Given the description of an element on the screen output the (x, y) to click on. 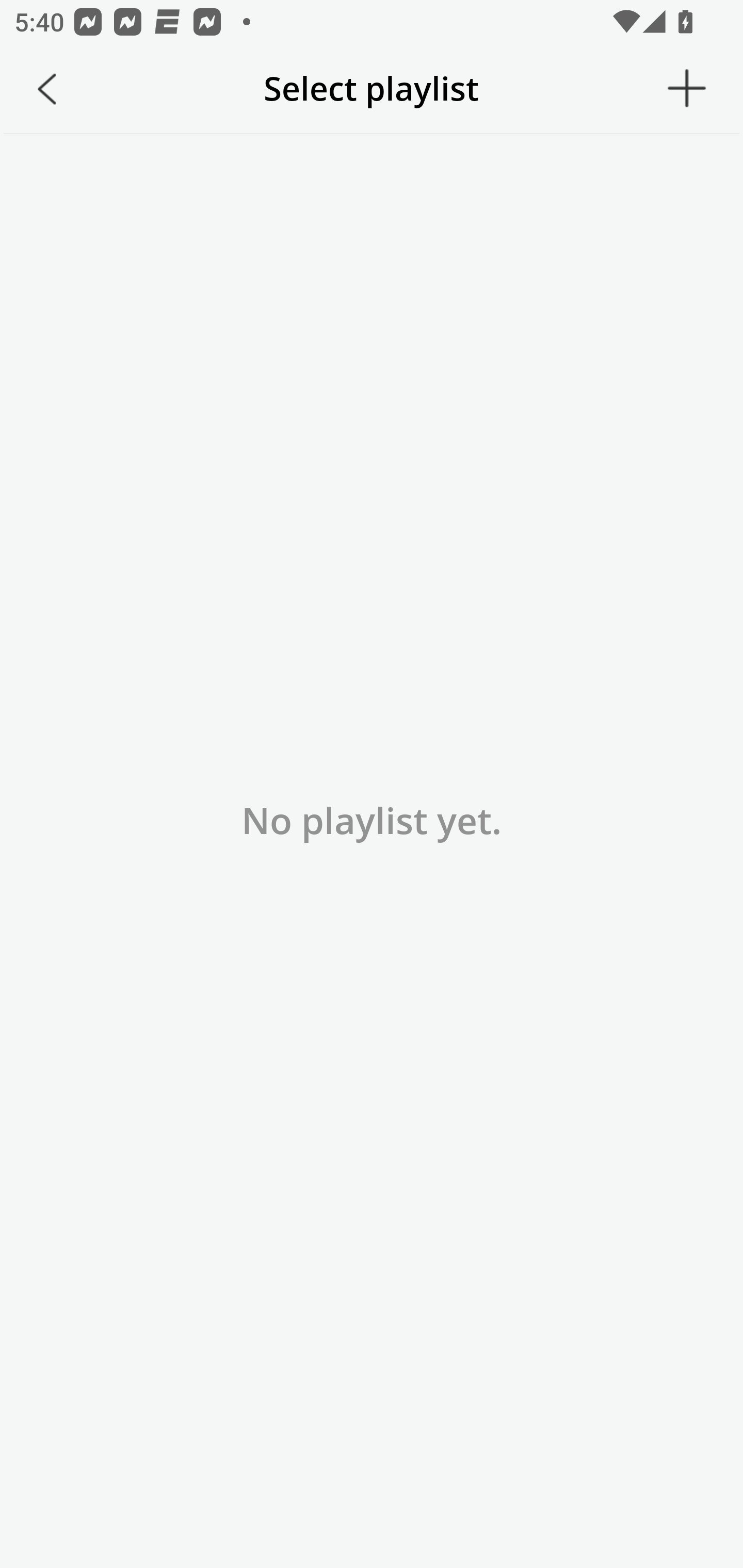
Back (46, 88)
